Given the description of an element on the screen output the (x, y) to click on. 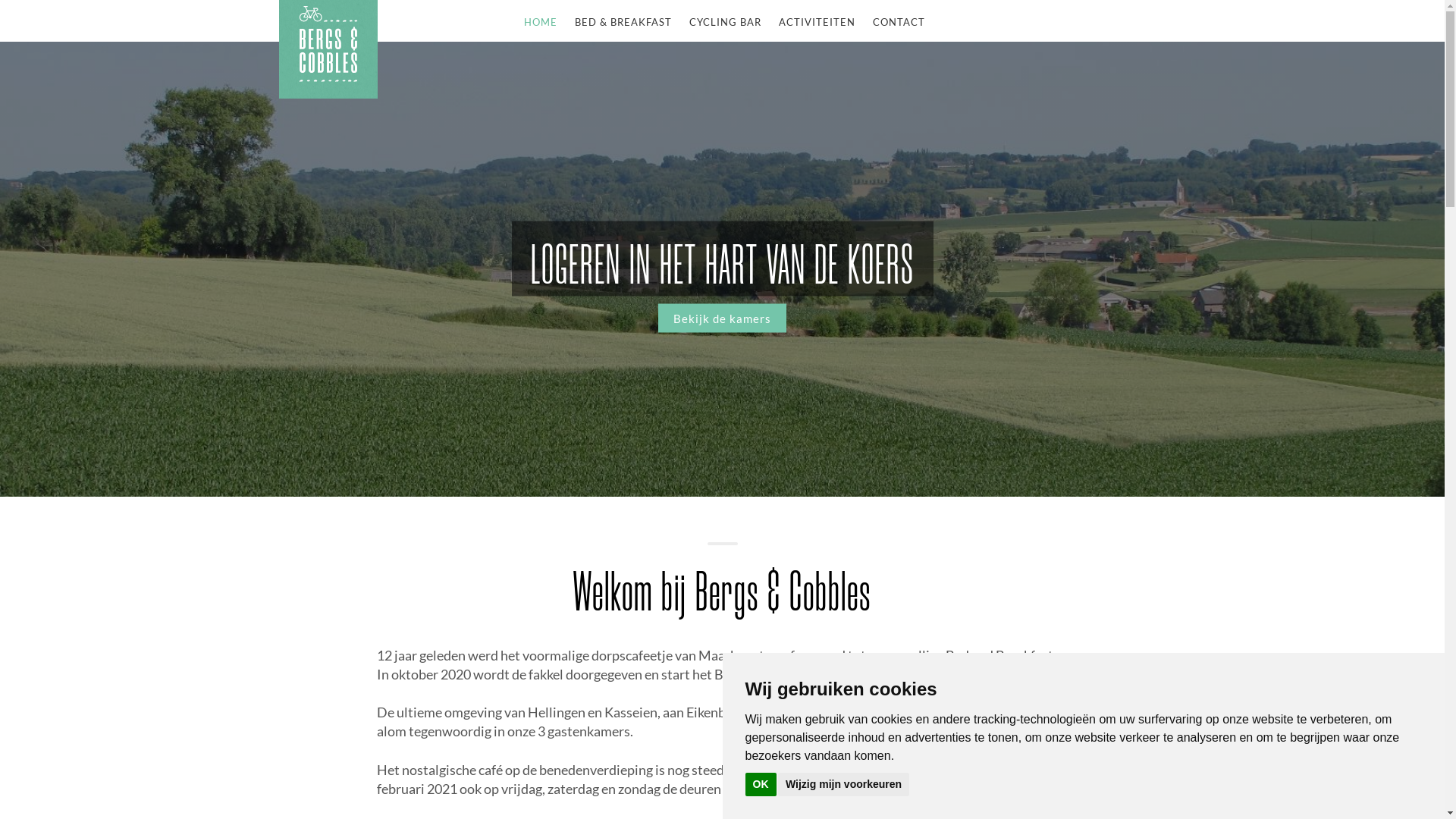
Bekijk de kamers Element type: text (722, 317)
BED & BREAKFAST Element type: text (623, 22)
ACTIVITEITEN Element type: text (816, 22)
Wijzig mijn voorkeuren Element type: text (843, 784)
CYCLING BAR Element type: text (724, 22)
CONTACT Element type: text (898, 22)
HOME Element type: text (540, 22)
OK Element type: text (759, 784)
